Given the description of an element on the screen output the (x, y) to click on. 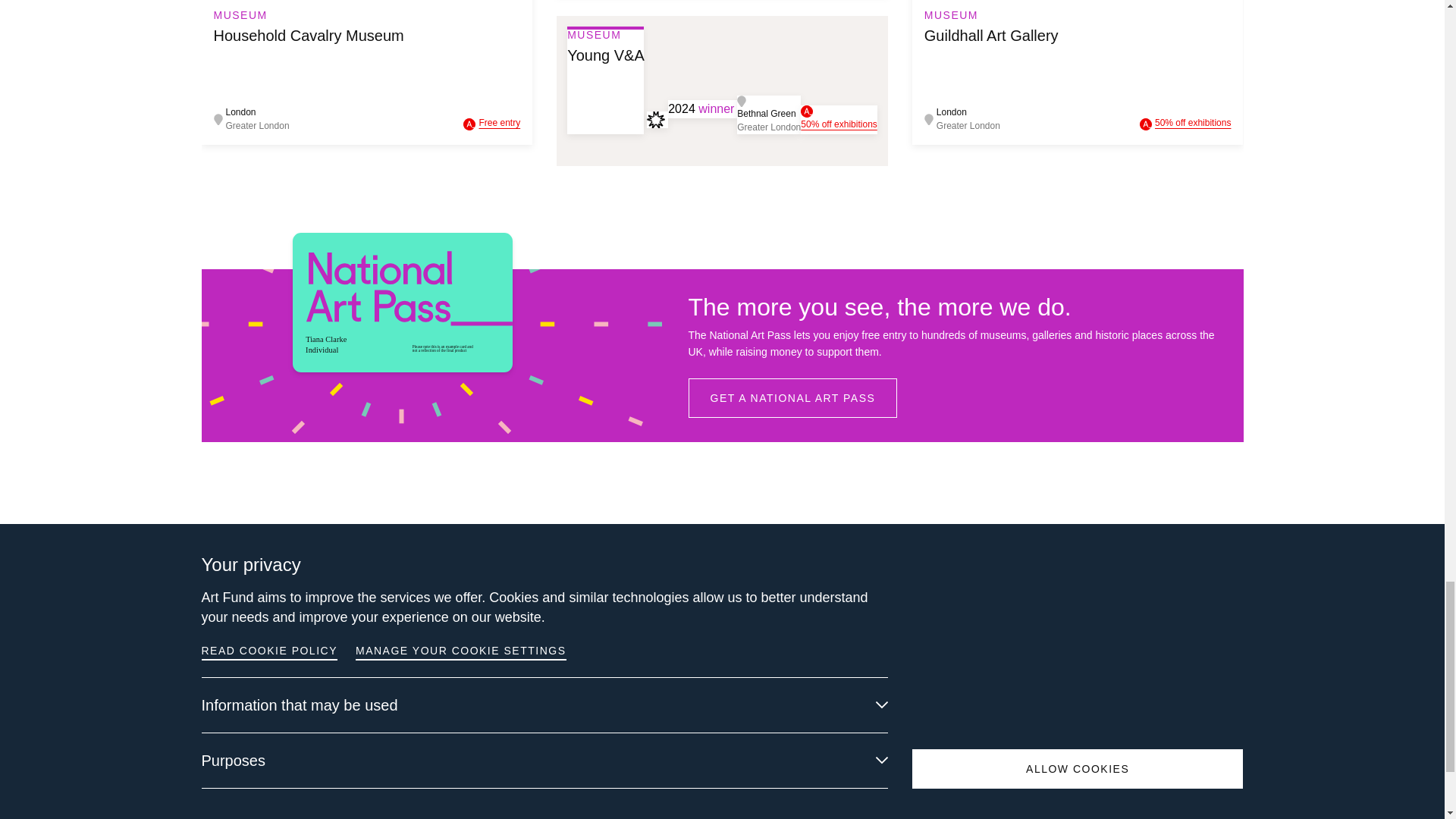
Bethnal Green (768, 113)
London (257, 111)
Greater London (968, 125)
Greater London (257, 125)
Greater London (768, 127)
London (968, 111)
